Given the description of an element on the screen output the (x, y) to click on. 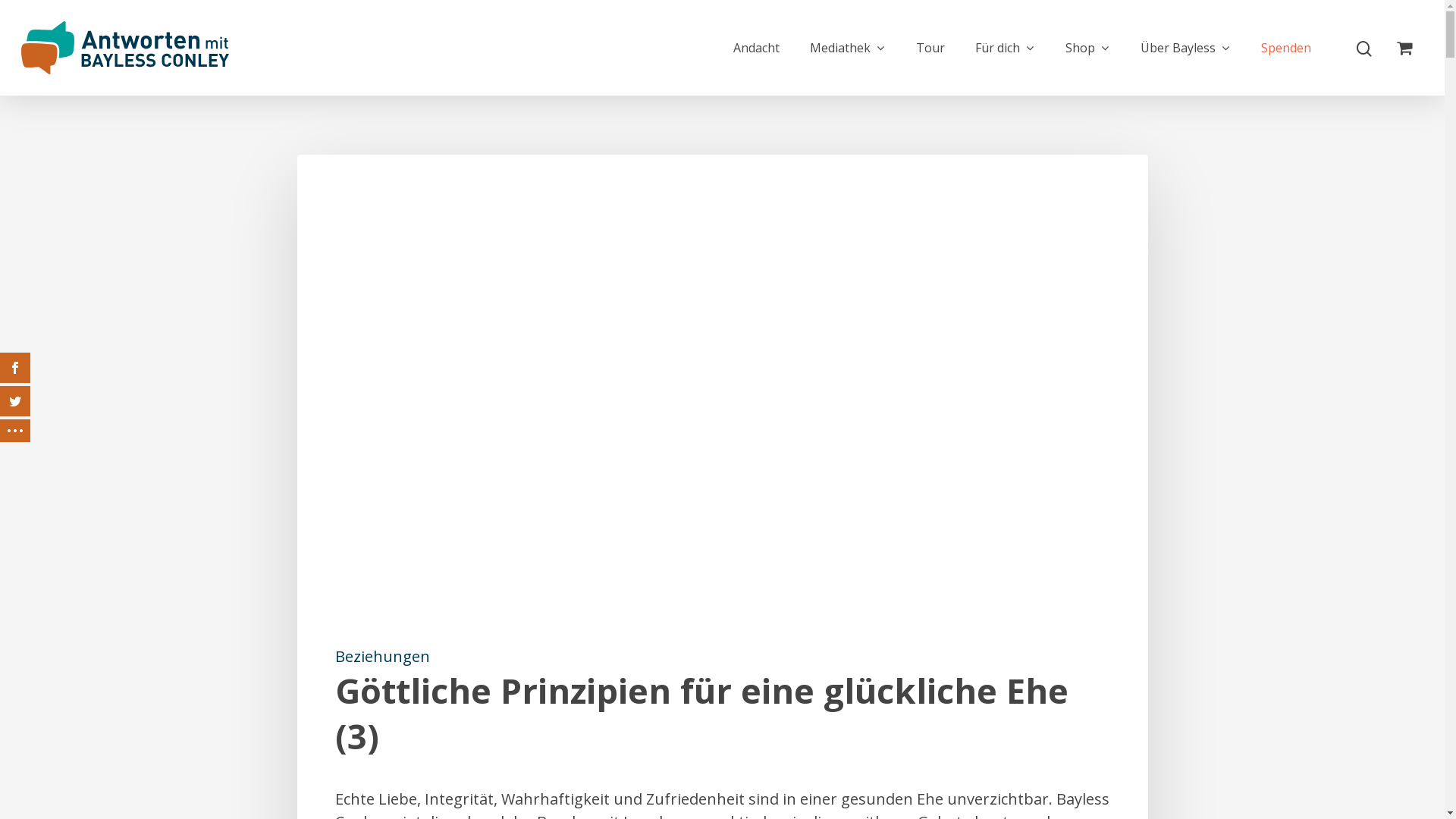
Andacht Element type: text (756, 47)
Shop Element type: text (1087, 47)
Mediathek Element type: text (847, 47)
Tour Element type: text (930, 47)
Spenden Element type: text (1285, 47)
Beziehungen Element type: text (382, 656)
